Given the description of an element on the screen output the (x, y) to click on. 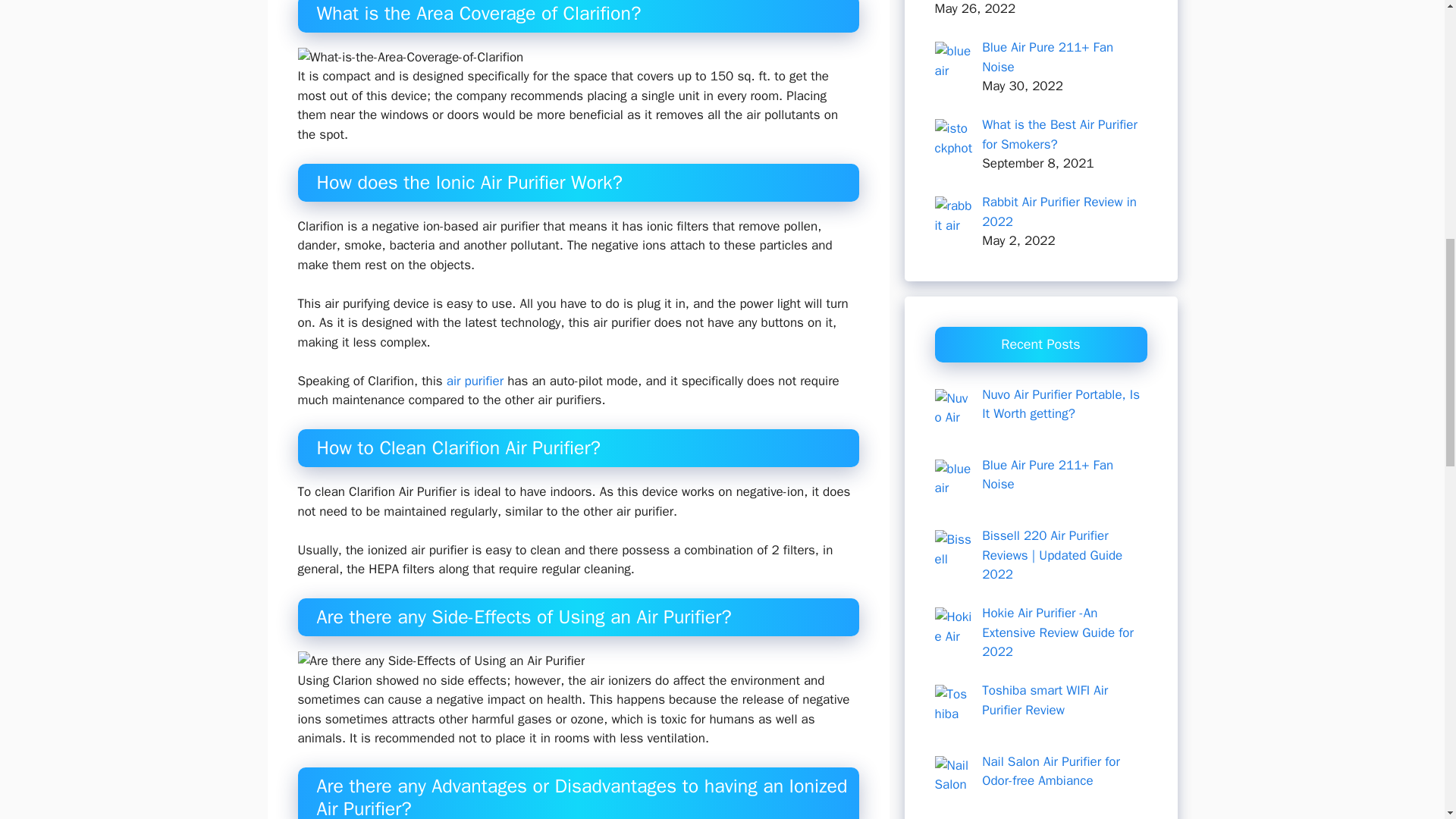
air purifier (474, 381)
What is the Best Air Purifier for Smokers? (1059, 134)
Rabbit Air Purifier Review in 2022 (1059, 212)
Hokie Air Purifier -An Extensive Review Guide for 2022 (1057, 632)
Nuvo Air Purifier Portable, Is It Worth getting? (1060, 404)
